Given the description of an element on the screen output the (x, y) to click on. 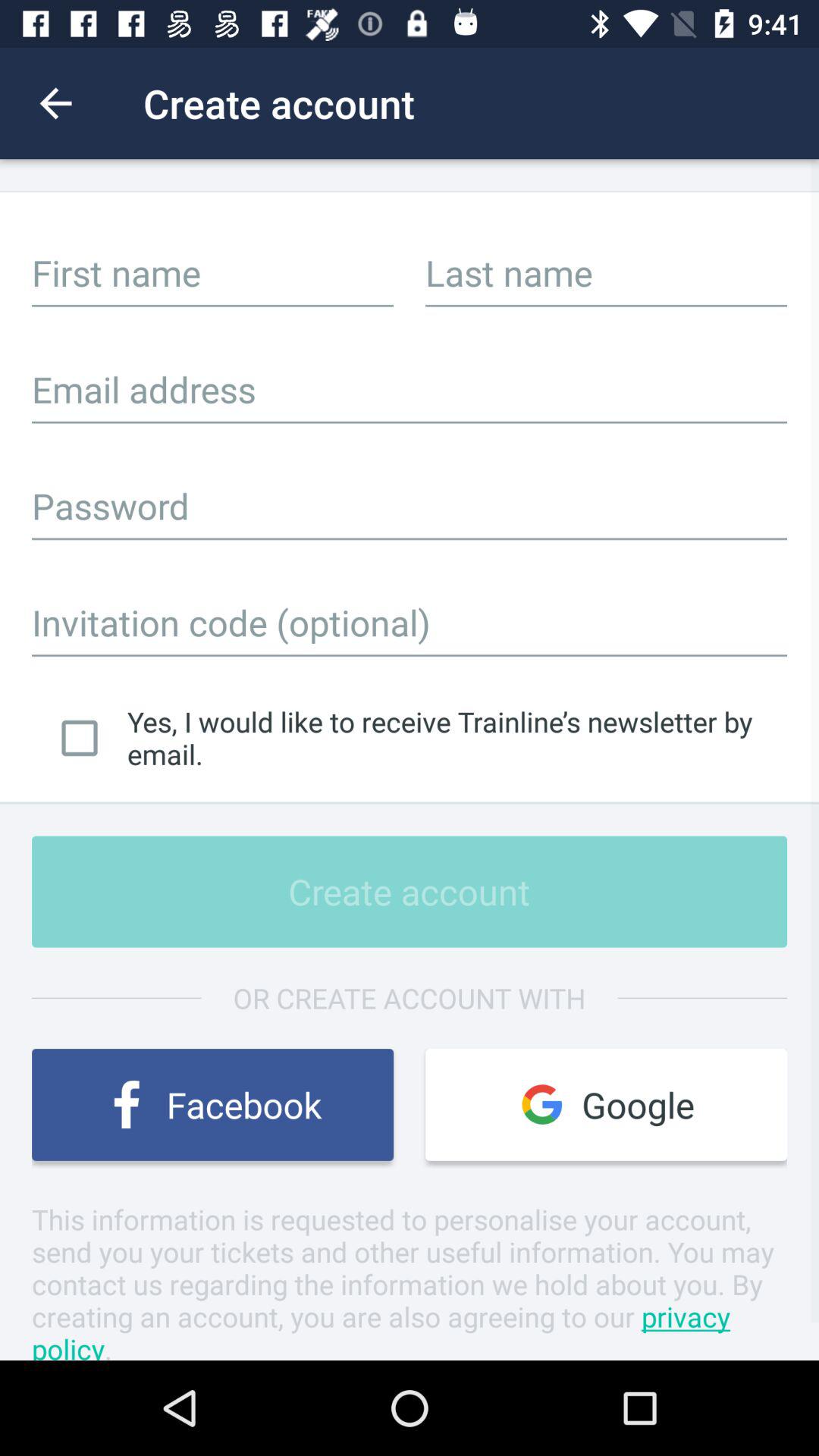
enter a password here (409, 505)
